Given the description of an element on the screen output the (x, y) to click on. 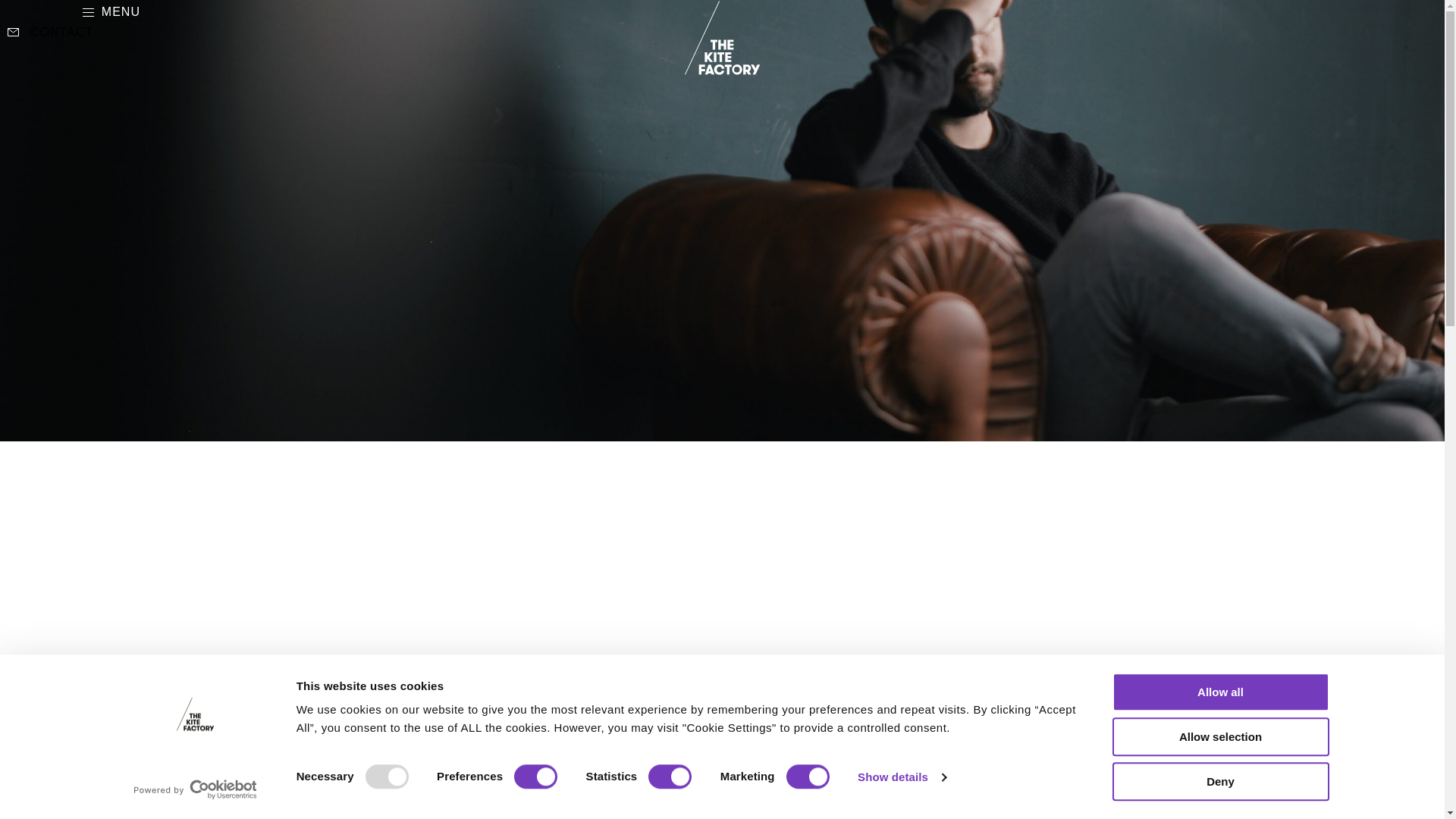
Allow all (1219, 691)
Deny (1219, 781)
Show details (900, 776)
The Kite Factory (722, 38)
Allow selection (1219, 736)
Contact (50, 32)
